Given the description of an element on the screen output the (x, y) to click on. 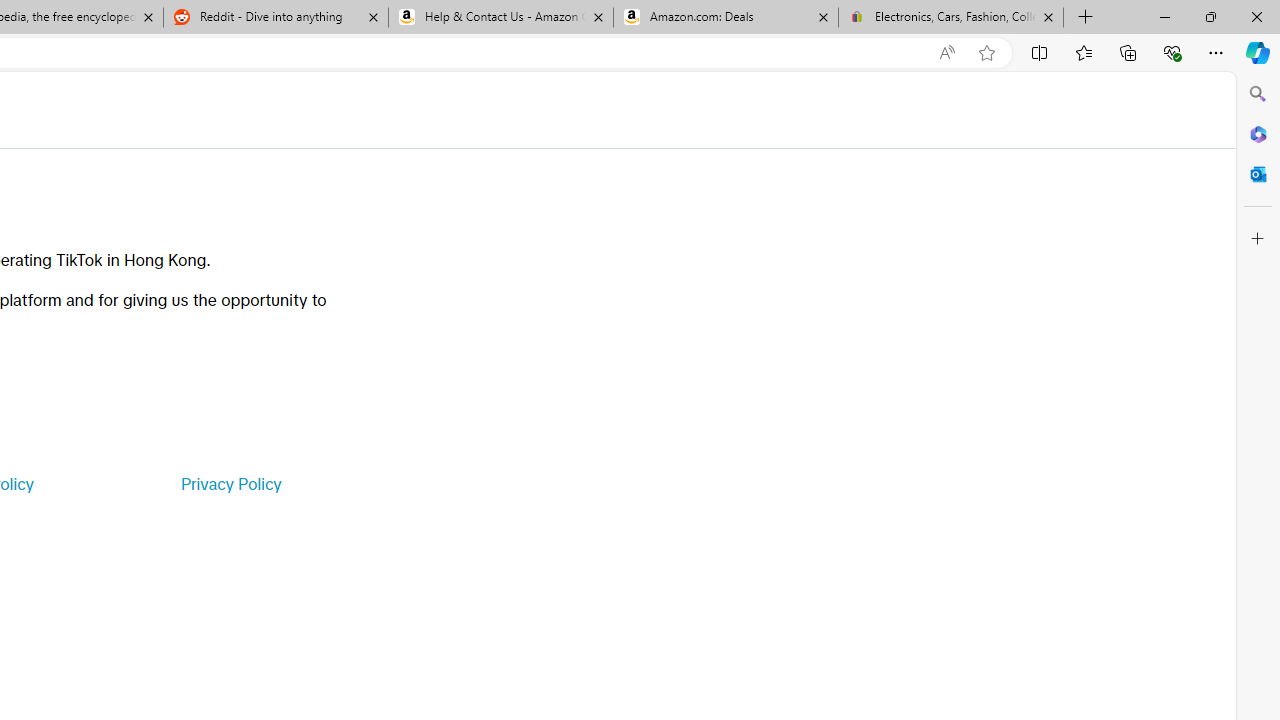
Help & Contact Us - Amazon Customer Service (501, 17)
Privacy Policy (230, 484)
Amazon.com: Deals (726, 17)
